Given the description of an element on the screen output the (x, y) to click on. 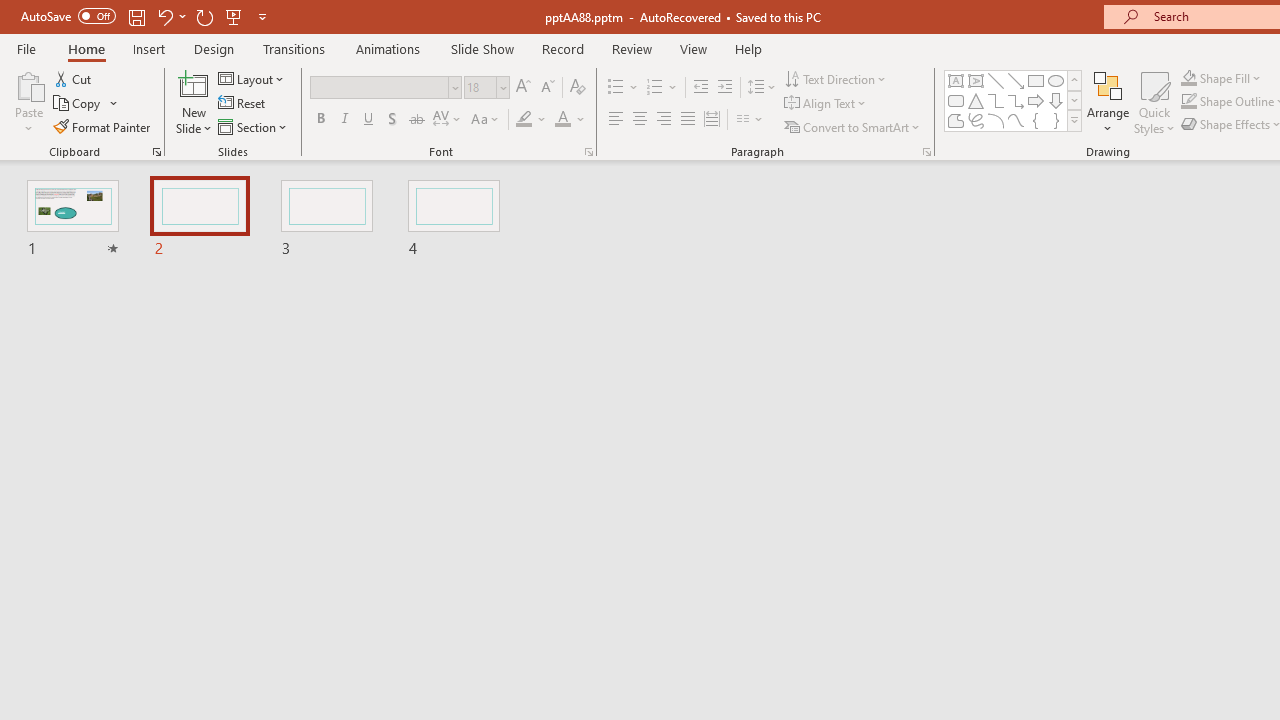
Shape Fill Aqua, Accent 2 (1188, 78)
